Given the description of an element on the screen output the (x, y) to click on. 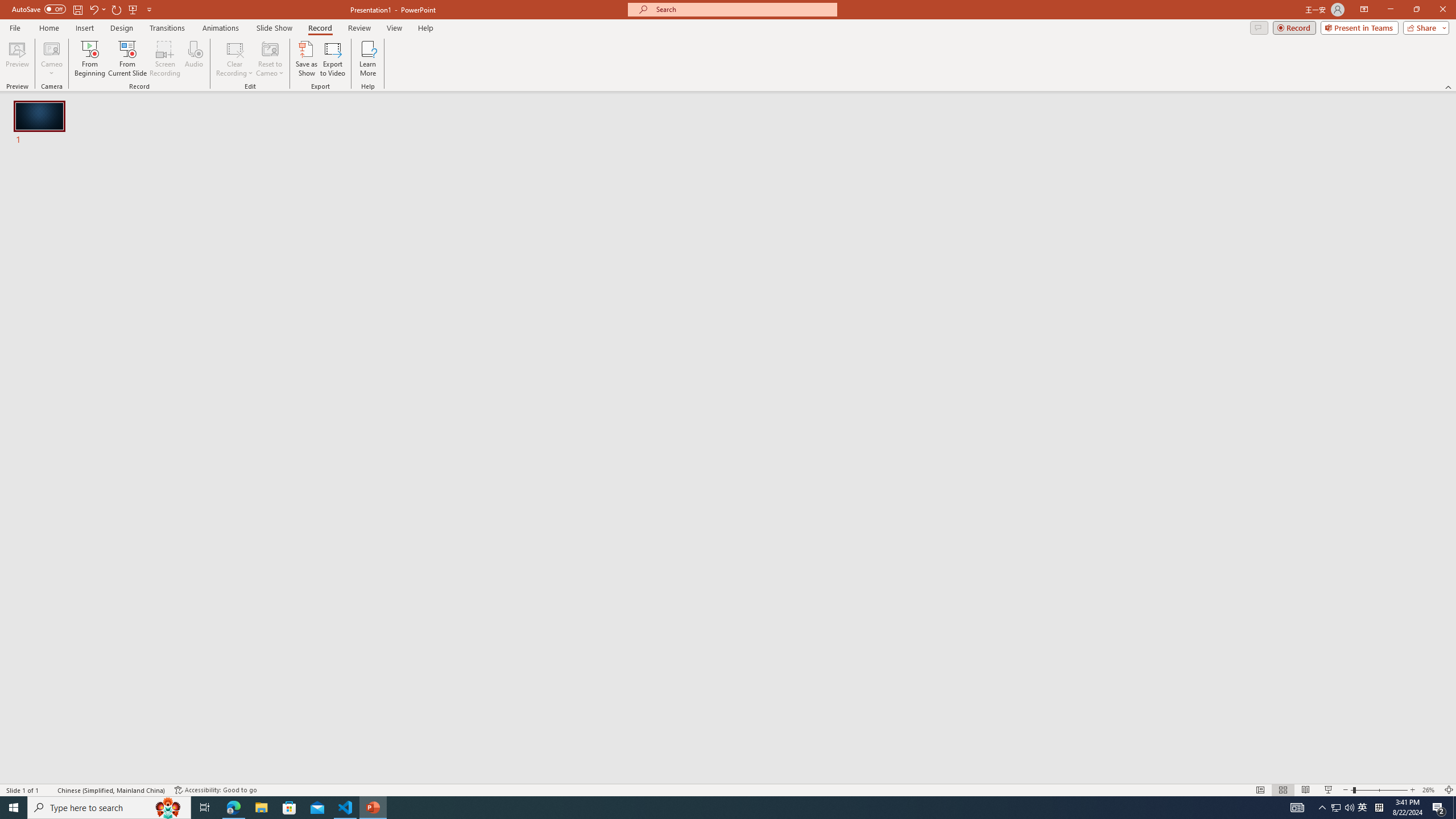
Spell Check  (49, 790)
